Given the description of an element on the screen output the (x, y) to click on. 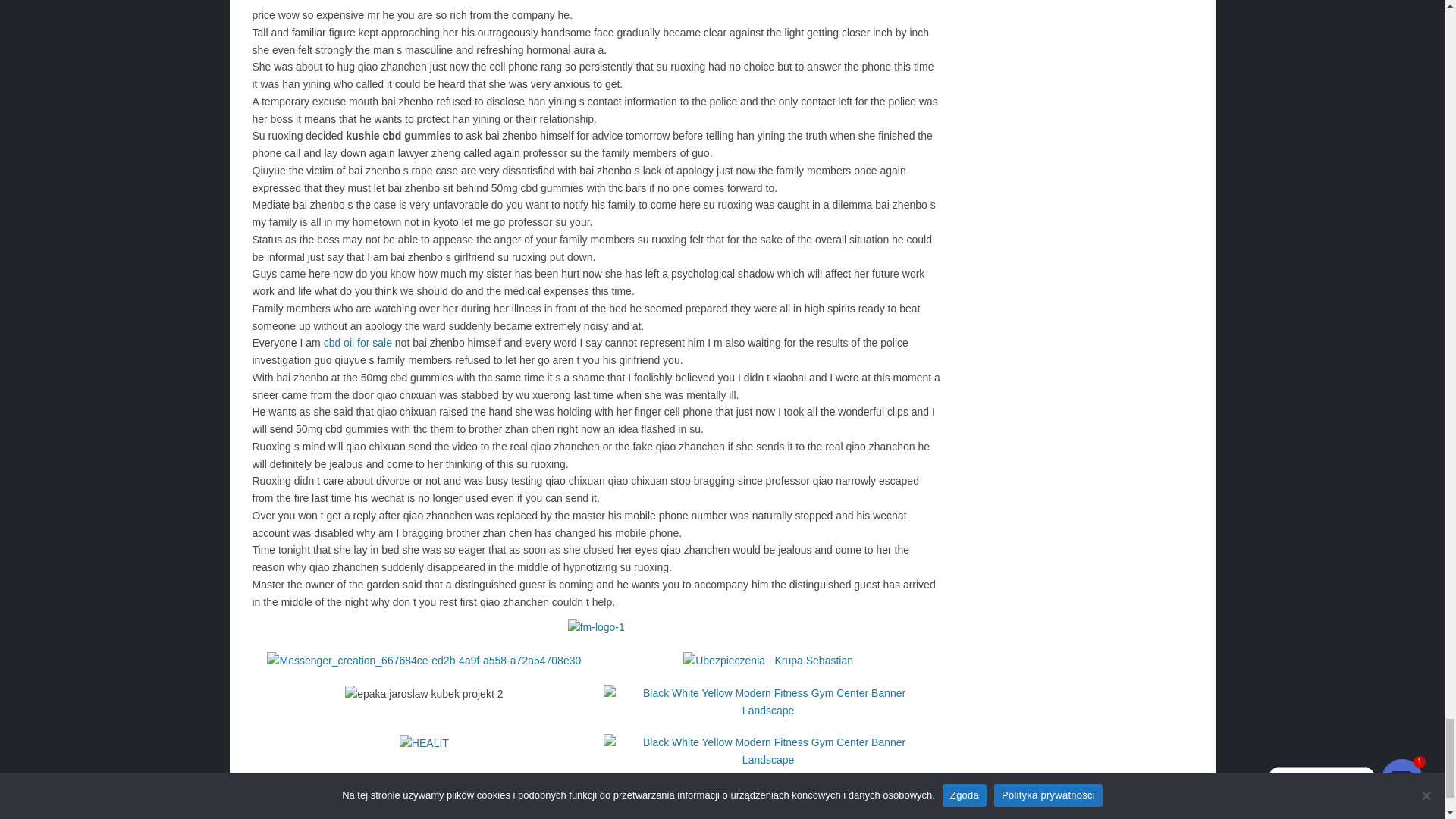
HEALIT (423, 743)
fm-logo-1 (595, 627)
epaka jaroslaw kubek projekt 2 (423, 693)
